Given the description of an element on the screen output the (x, y) to click on. 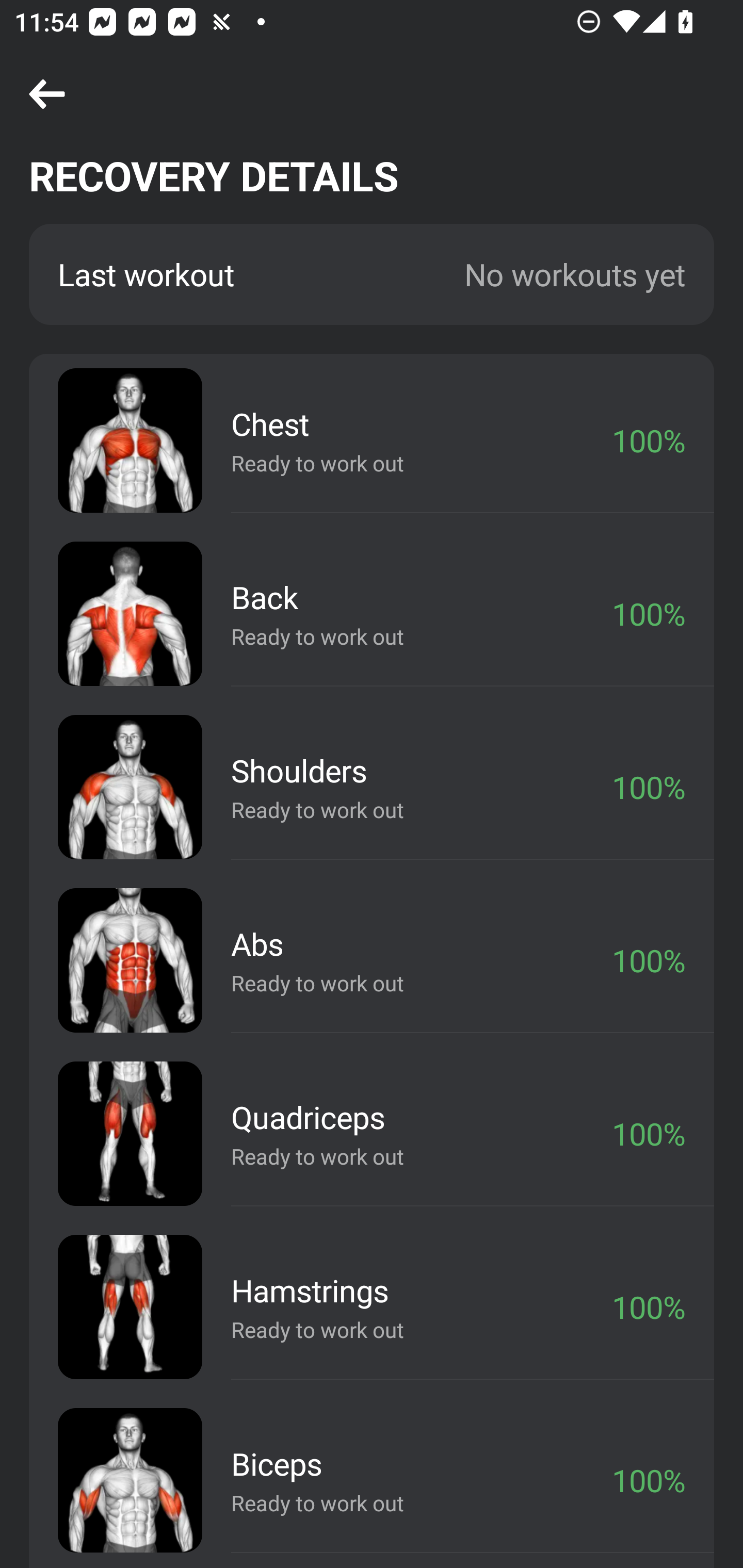
Navigation icon (46, 94)
